Given the description of an element on the screen output the (x, y) to click on. 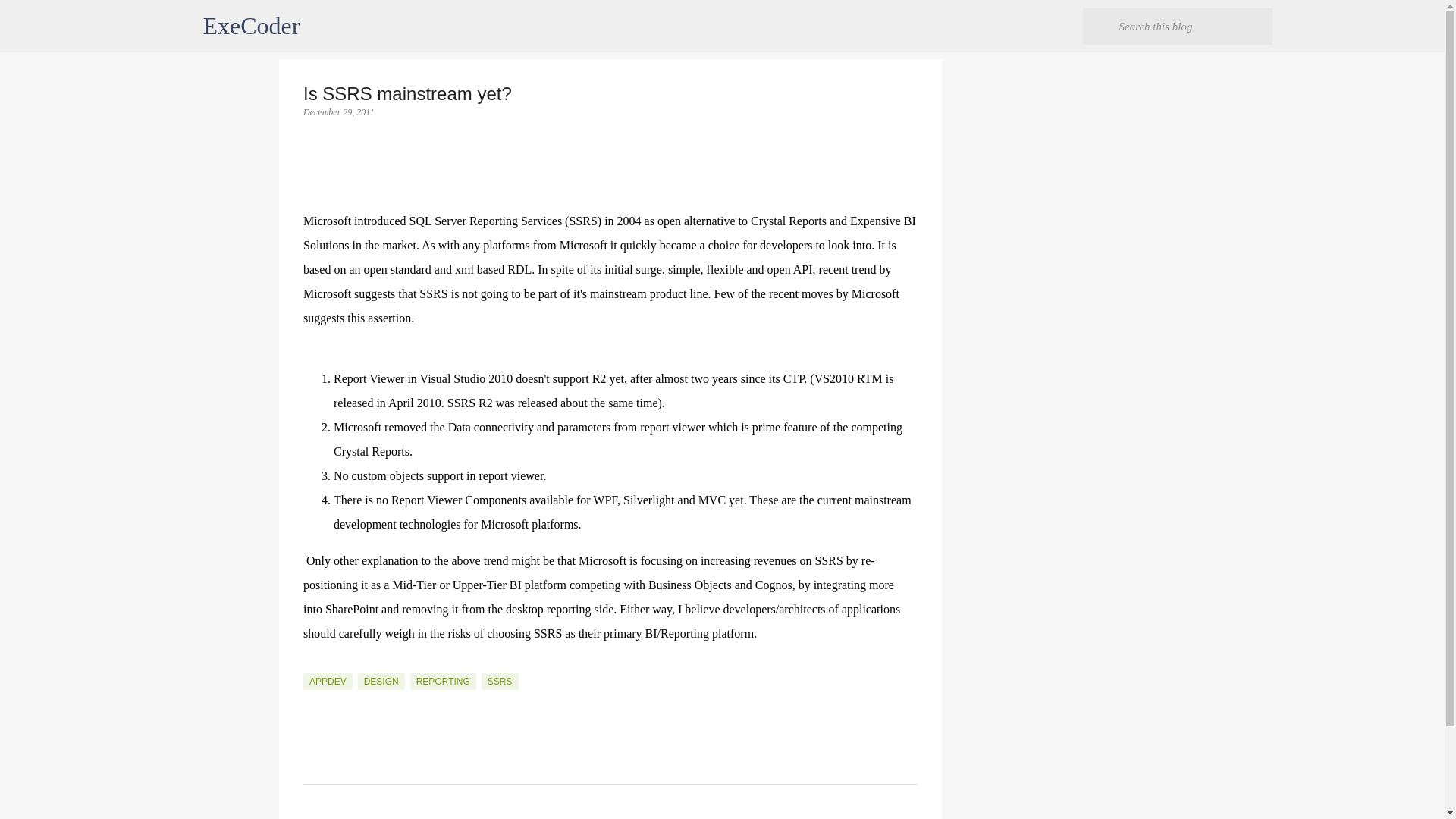
REPORTING (443, 681)
ExeCoder (251, 25)
permanent link (338, 112)
APPDEV (327, 681)
DESIGN (381, 681)
SSRS (499, 681)
December 29, 2011 (338, 112)
